Given the description of an element on the screen output the (x, y) to click on. 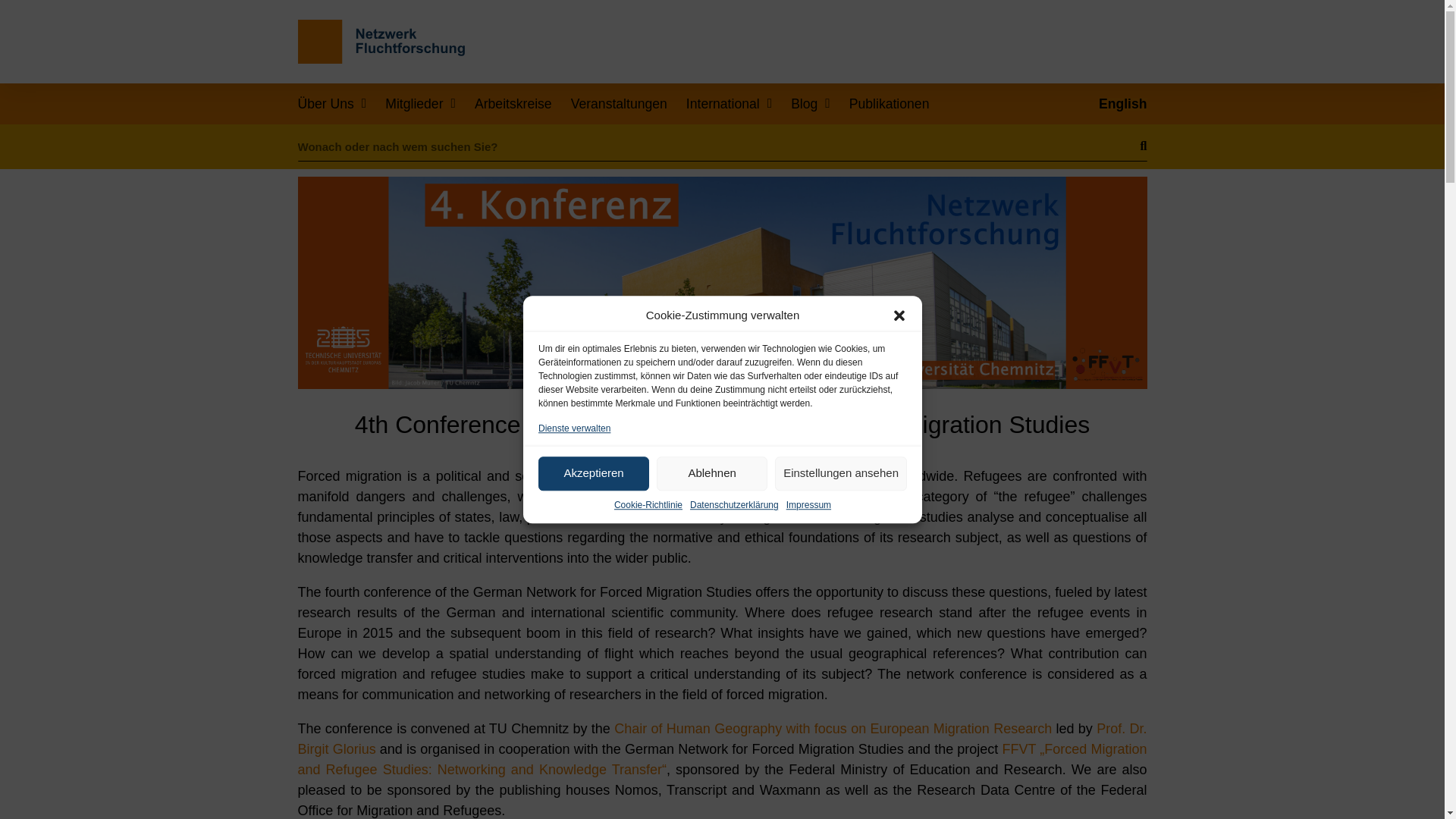
Akzeptieren (593, 745)
Impressum (807, 584)
Cookie-Richtlinie (646, 626)
Ablehnen (711, 710)
Einstellungen ansehen (840, 679)
